Given the description of an element on the screen output the (x, y) to click on. 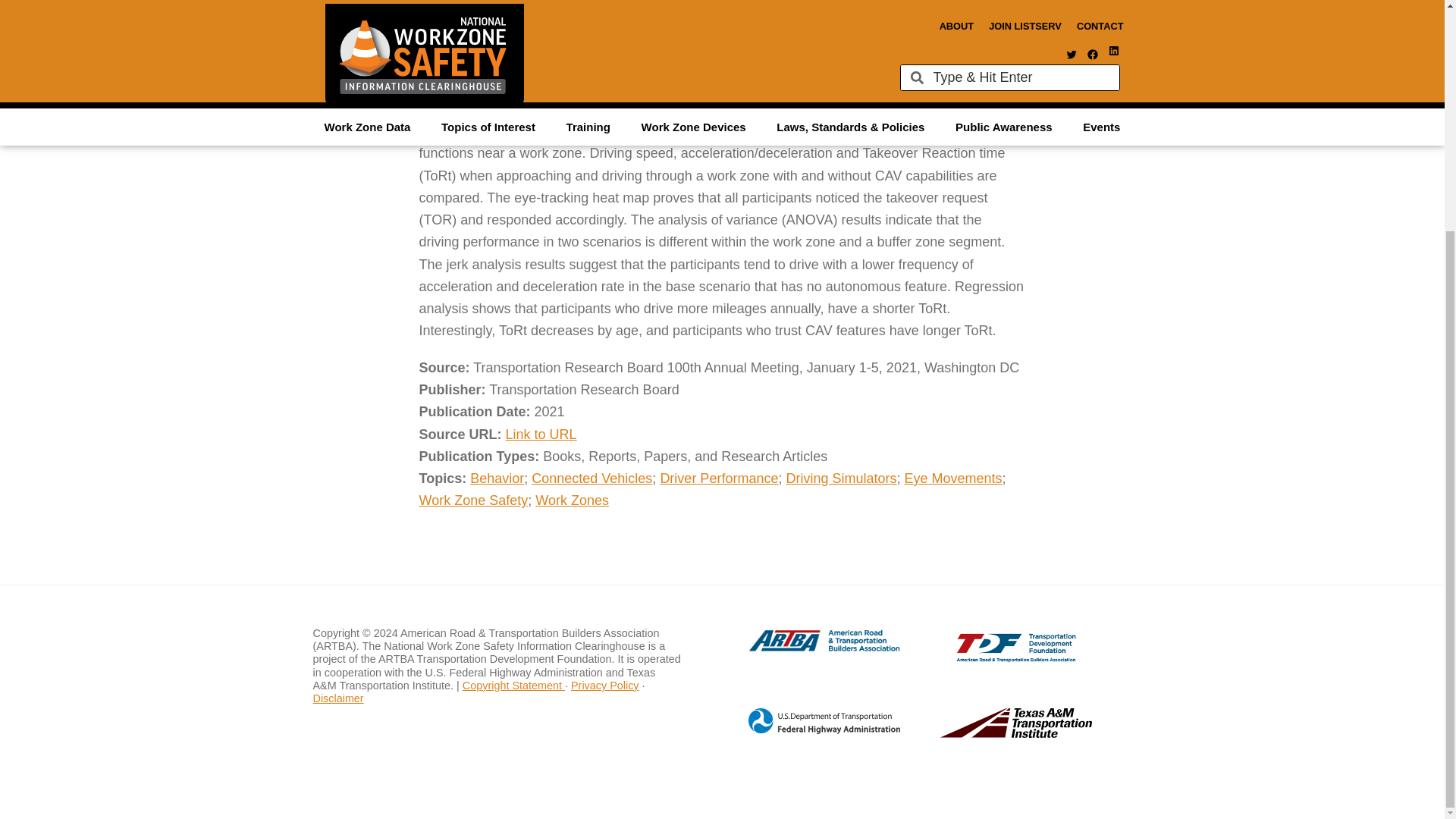
ARTBA Transportation Development Foundation website (985, 658)
FHWA website (808, 730)
ARTBA website (808, 649)
Link to URL (540, 434)
